Given the description of an element on the screen output the (x, y) to click on. 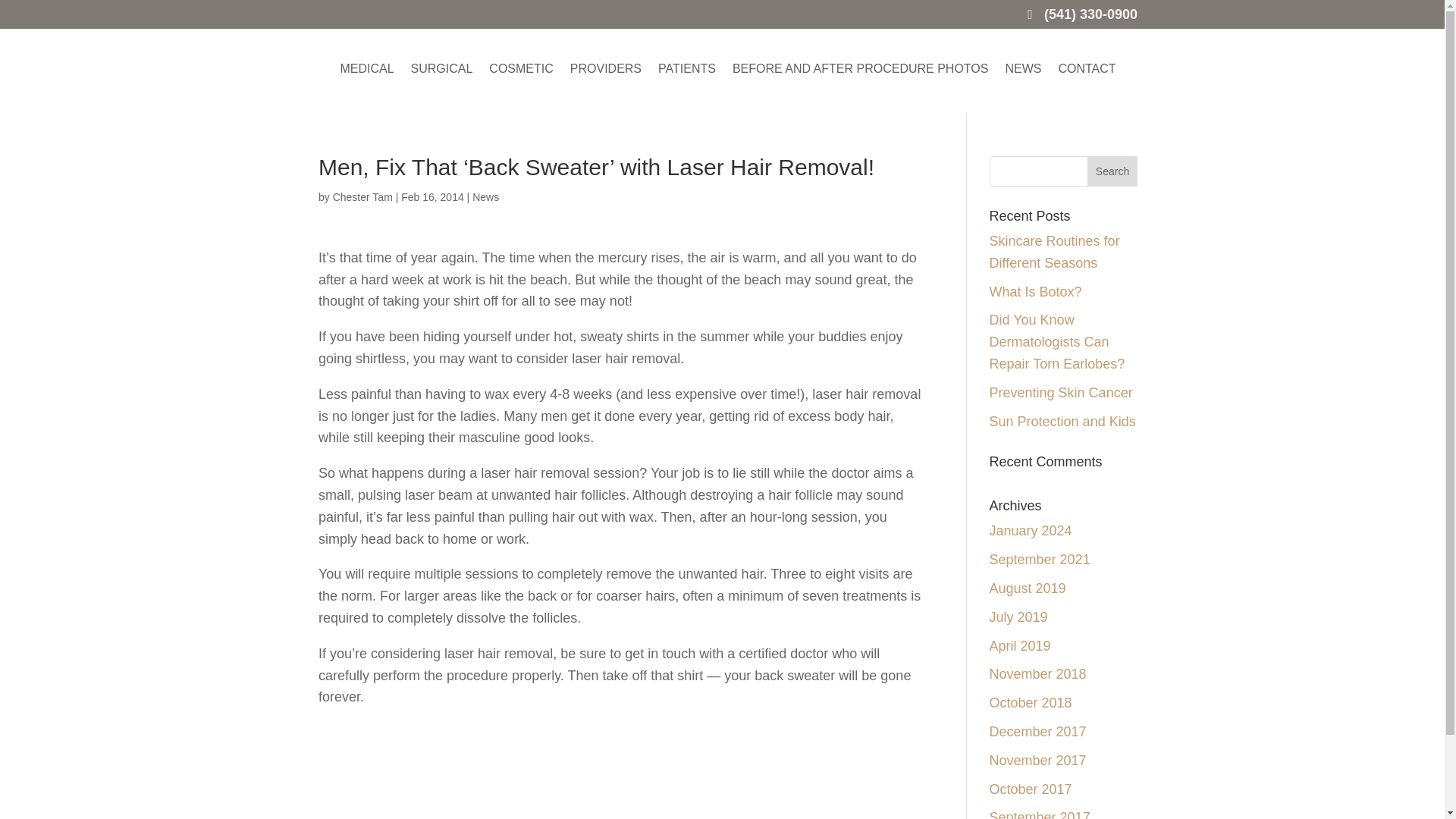
SURGICAL (441, 70)
News (485, 196)
October 2017 (1030, 789)
COSMETIC (521, 70)
Sun Protection and Kids (1062, 421)
PROVIDERS (606, 70)
Search (1112, 171)
November 2018 (1038, 673)
Skincare Routines for Different Seasons (1054, 252)
BEFORE AND AFTER PROCEDURE PHOTOS (860, 70)
PATIENTS (687, 70)
October 2018 (1030, 702)
August 2019 (1027, 588)
What Is Botox? (1035, 291)
January 2024 (1030, 530)
